Given the description of an element on the screen output the (x, y) to click on. 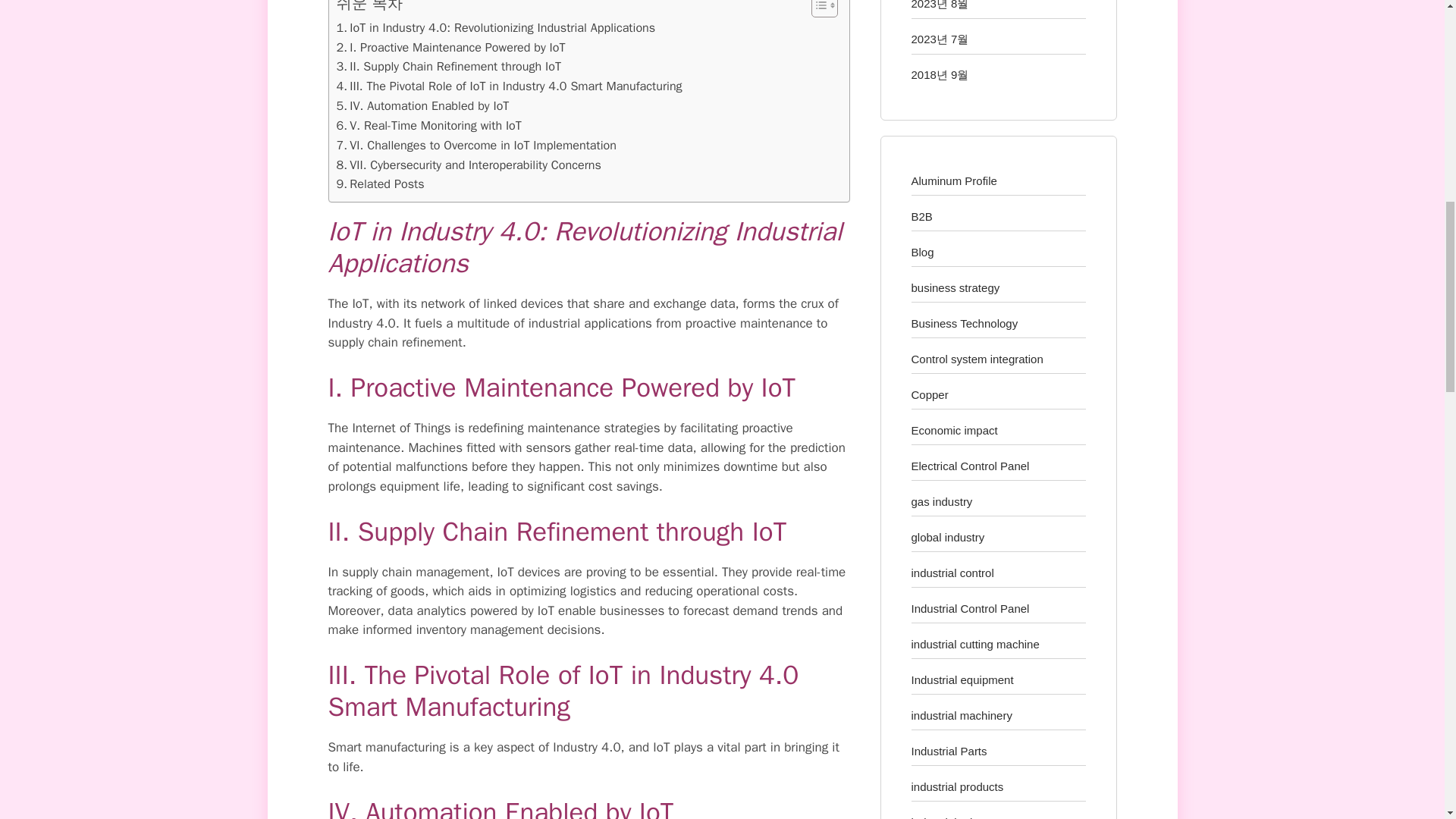
VII. Cybersecurity and Interoperability Concerns (468, 165)
II. Supply Chain Refinement through IoT (449, 66)
V. Real-Time Monitoring with IoT (428, 125)
IV. Automation Enabled by IoT (422, 106)
VI. Challenges to Overcome in IoT Implementation (475, 145)
VI. Challenges to Overcome in IoT Implementation (475, 145)
IoT in Industry 4.0: Revolutionizing Industrial Applications (496, 27)
IoT in Industry 4.0: Revolutionizing Industrial Applications (496, 27)
I. Proactive Maintenance Powered by IoT (451, 47)
VII. Cybersecurity and Interoperability Concerns (468, 165)
II. Supply Chain Refinement through IoT (449, 66)
V. Real-Time Monitoring with IoT (428, 125)
Related Posts (380, 184)
Related Posts (380, 184)
